Given the description of an element on the screen output the (x, y) to click on. 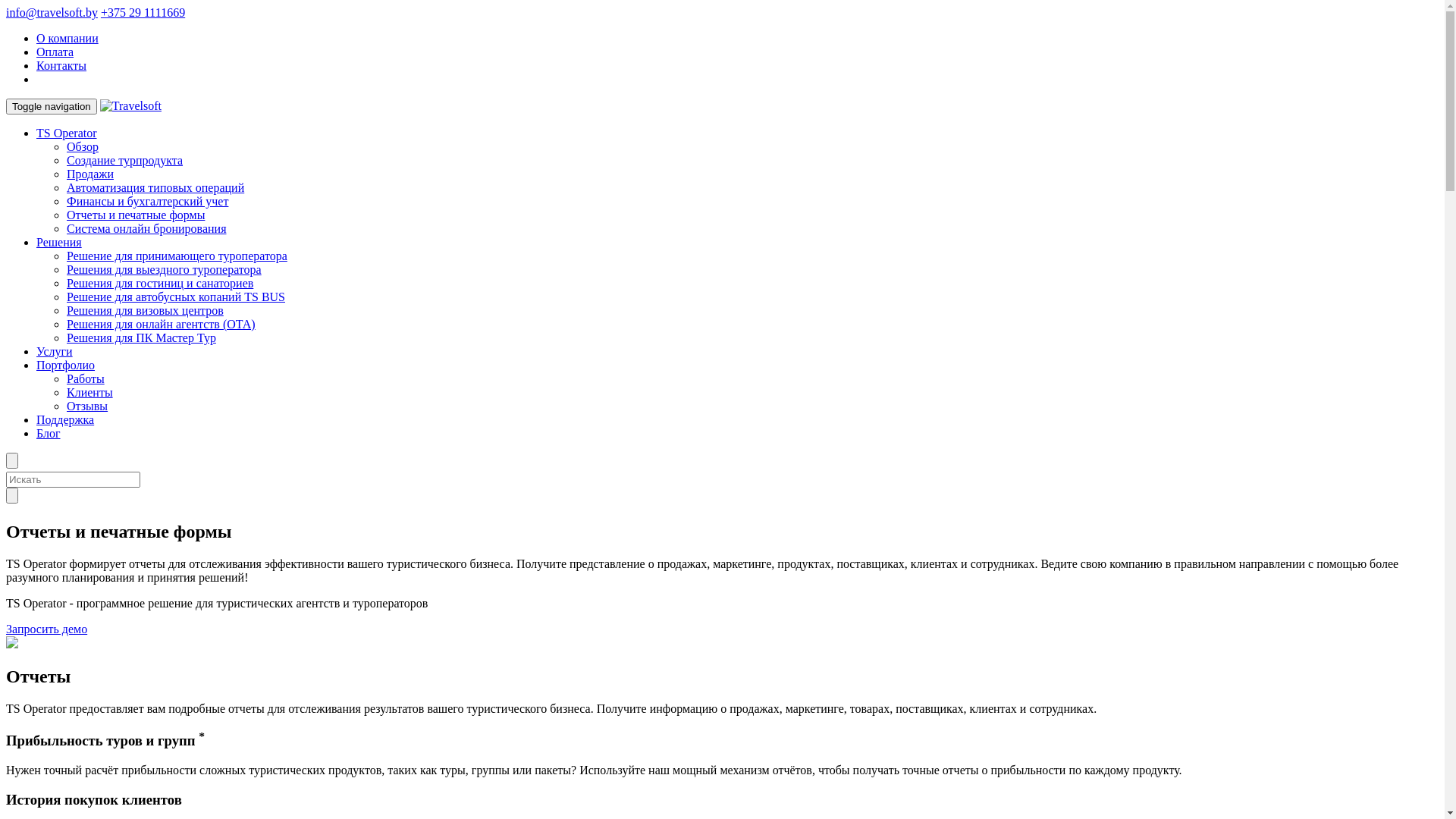
TS Operator Element type: text (66, 132)
Toggle navigation Element type: text (51, 106)
+375 29 1111669 Element type: text (142, 12)
info@travelsoft.by Element type: text (51, 12)
